Given the description of an element on the screen output the (x, y) to click on. 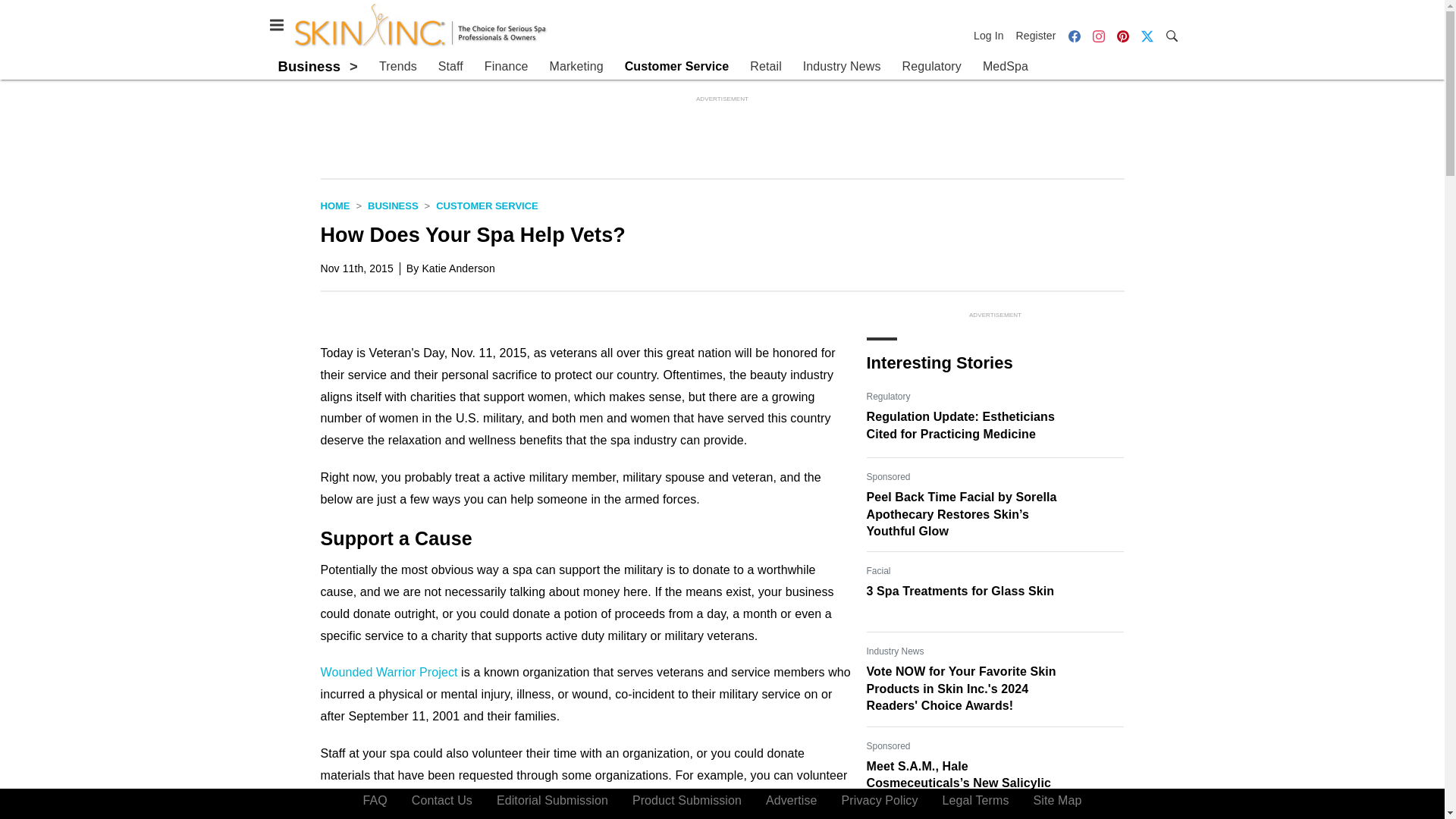
Business (309, 65)
Finance (506, 66)
Home (334, 205)
Customer Service (676, 66)
Facebook icon (1073, 35)
Pinterest icon (1122, 36)
Customer Service (486, 205)
Sponsored (888, 745)
Instagram icon (1097, 35)
MedSpa (1004, 66)
